Given the description of an element on the screen output the (x, y) to click on. 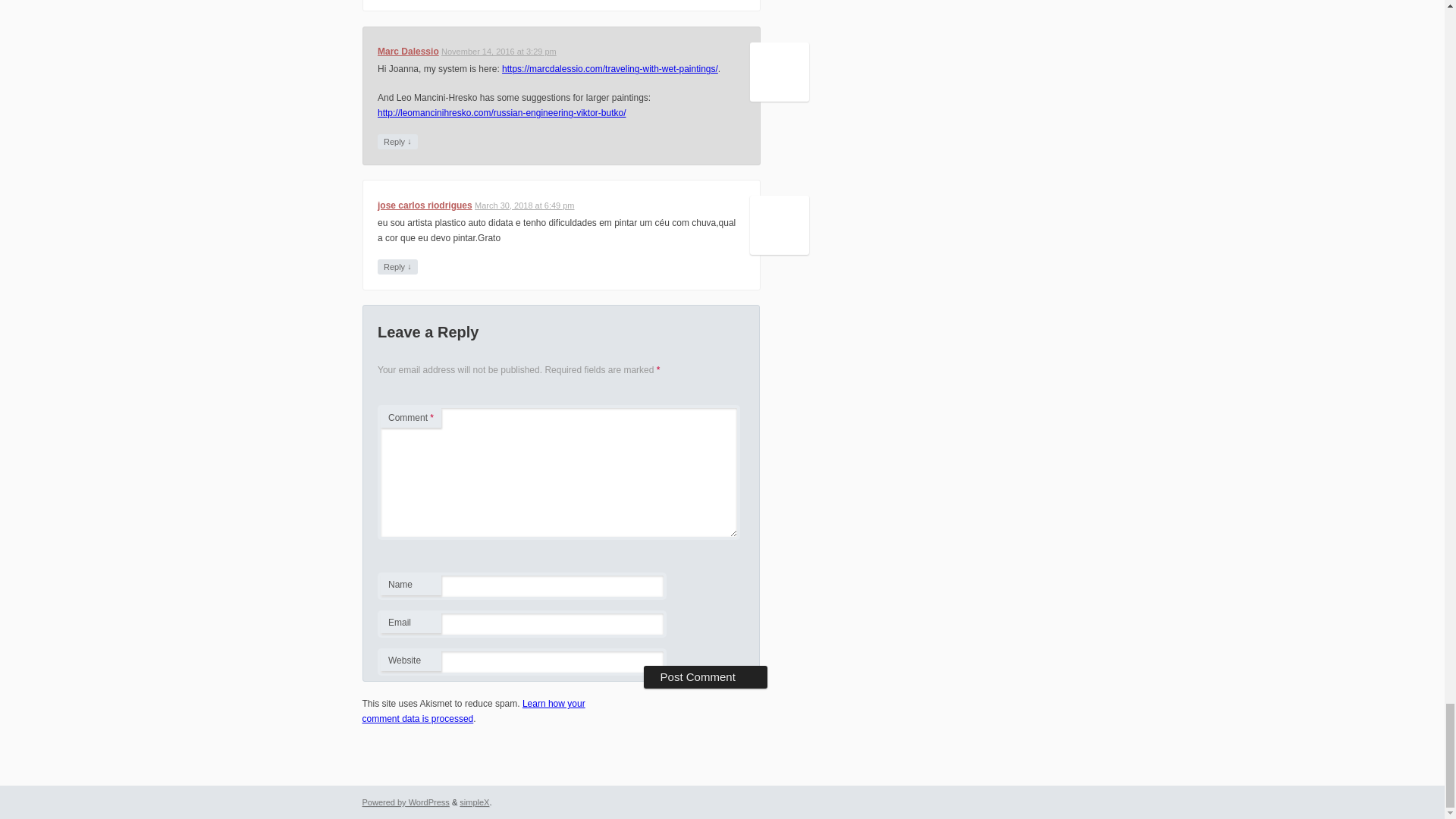
Post Comment (705, 676)
Minimalist WordPress Themes (474, 801)
Semantic Personal Publishing Platform (405, 801)
